Given the description of an element on the screen output the (x, y) to click on. 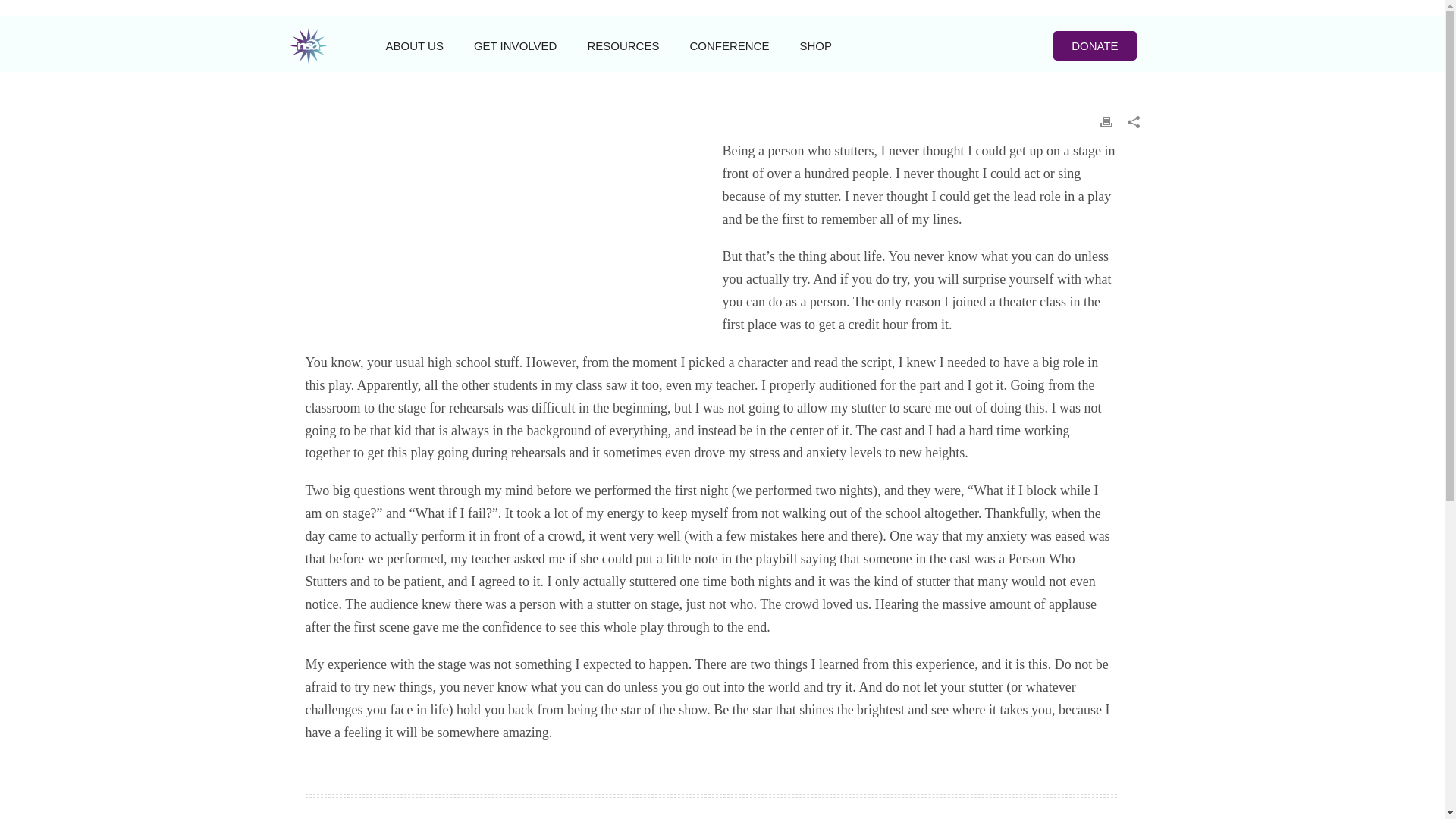
CONFERENCE (729, 45)
ABOUT US (413, 45)
RESOURCES (623, 45)
GET INVOLVED (515, 45)
SHOP (815, 45)
